Given the description of an element on the screen output the (x, y) to click on. 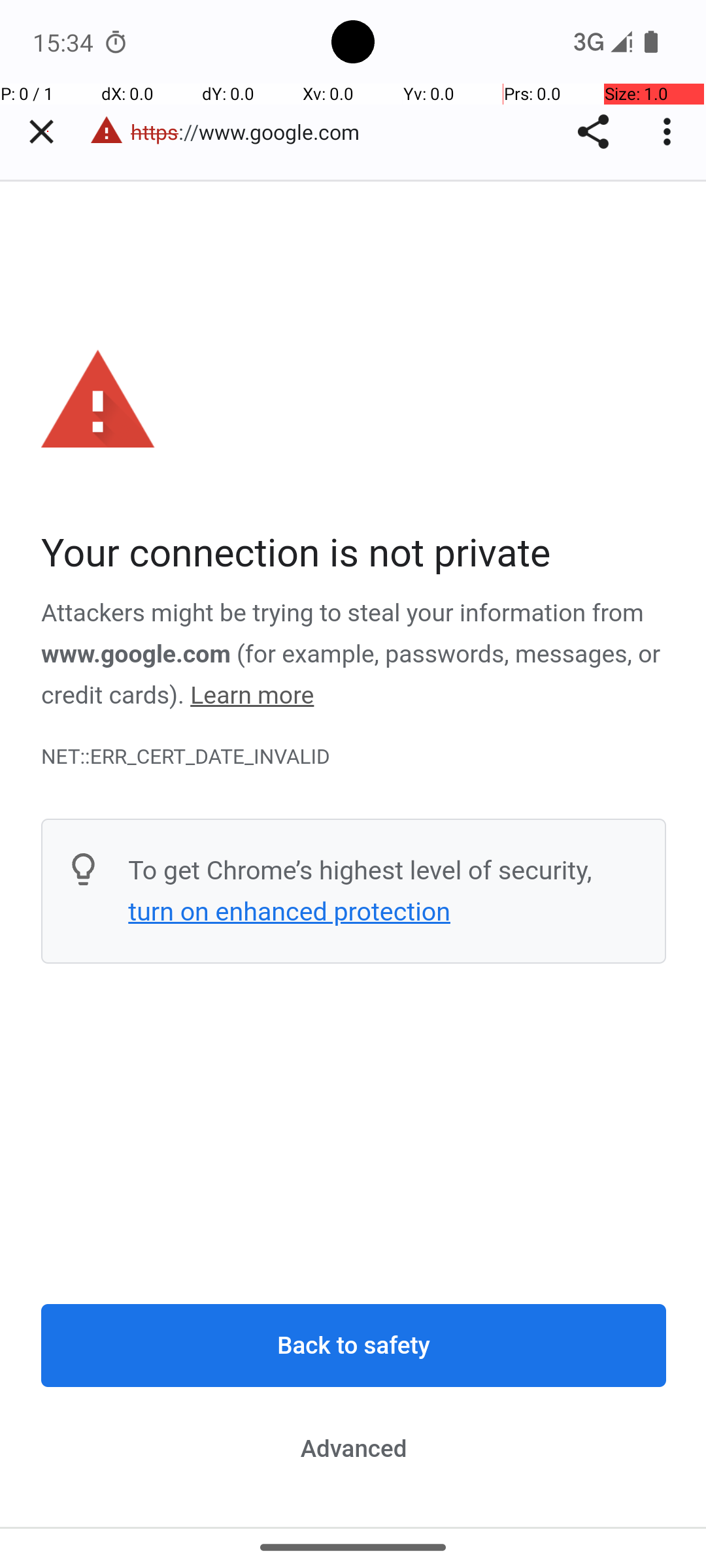
https://www.google.com Element type: android.widget.TextView (251, 131)
www.google.com Element type: android.widget.TextView (136, 653)
